Given the description of an element on the screen output the (x, y) to click on. 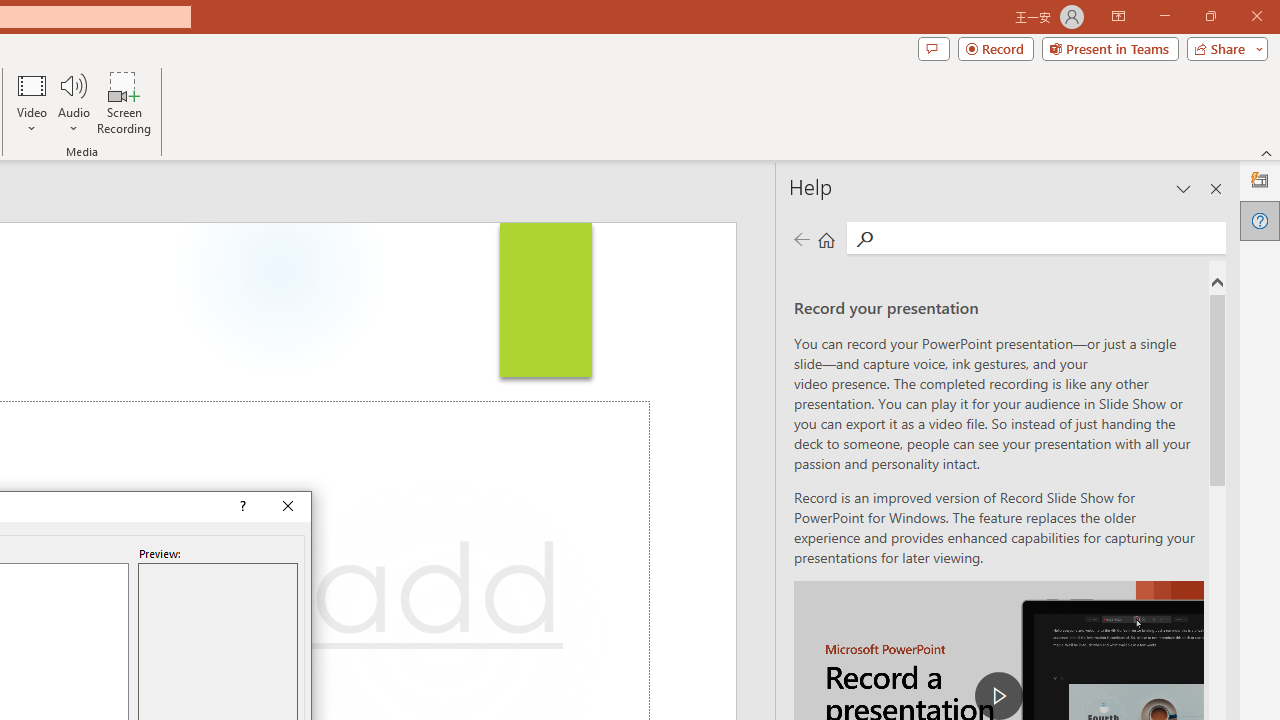
Previous page (801, 238)
Screen Recording... (123, 102)
Designer (1260, 180)
Video (31, 102)
play Record a Presentation (998, 695)
Context help (240, 506)
Search (1049, 237)
